Given the description of an element on the screen output the (x, y) to click on. 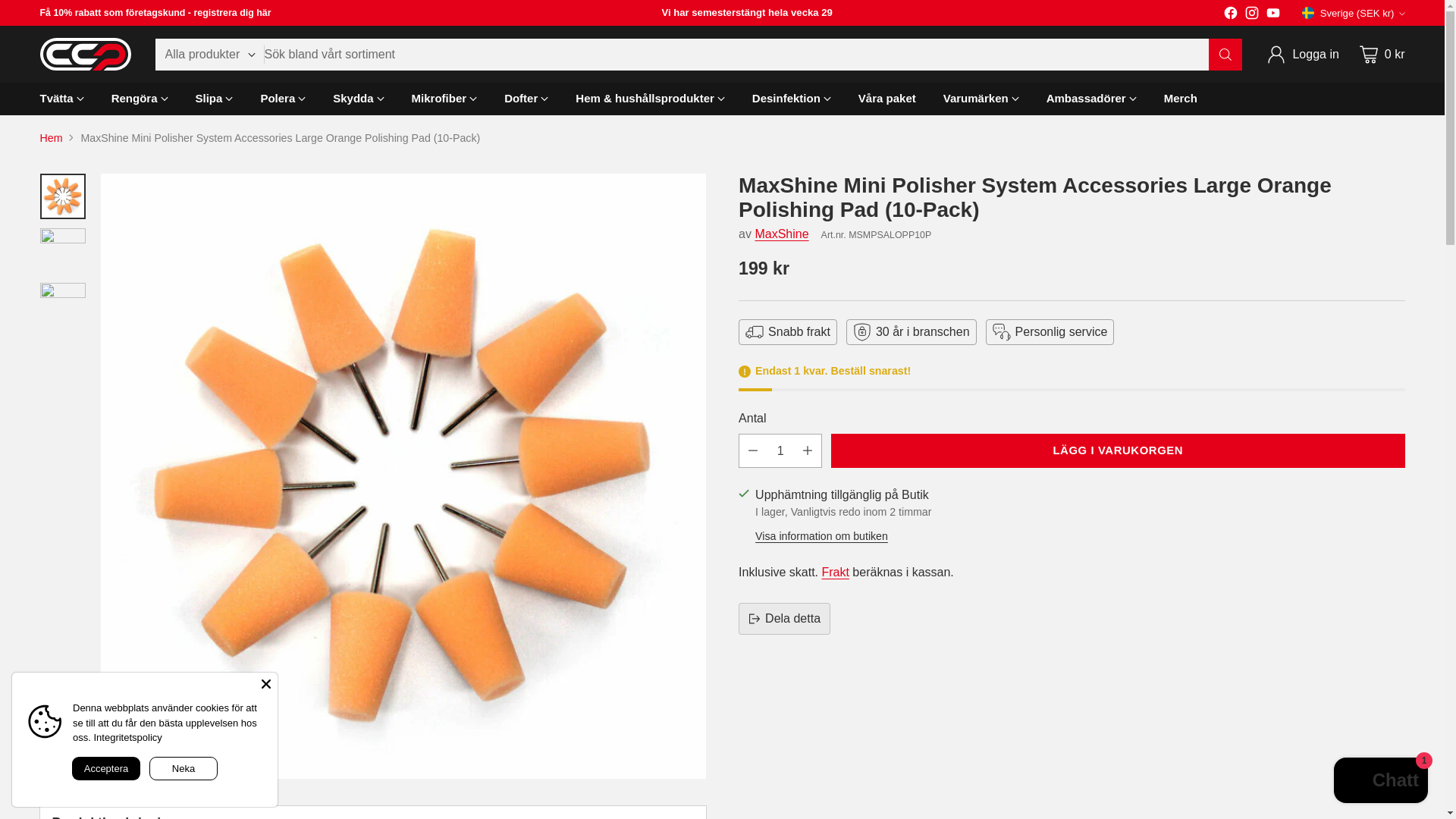
Logga in (1302, 54)
0 kr (1379, 54)
MaxShine (781, 233)
Integritetspolicy (127, 737)
